Given the description of an element on the screen output the (x, y) to click on. 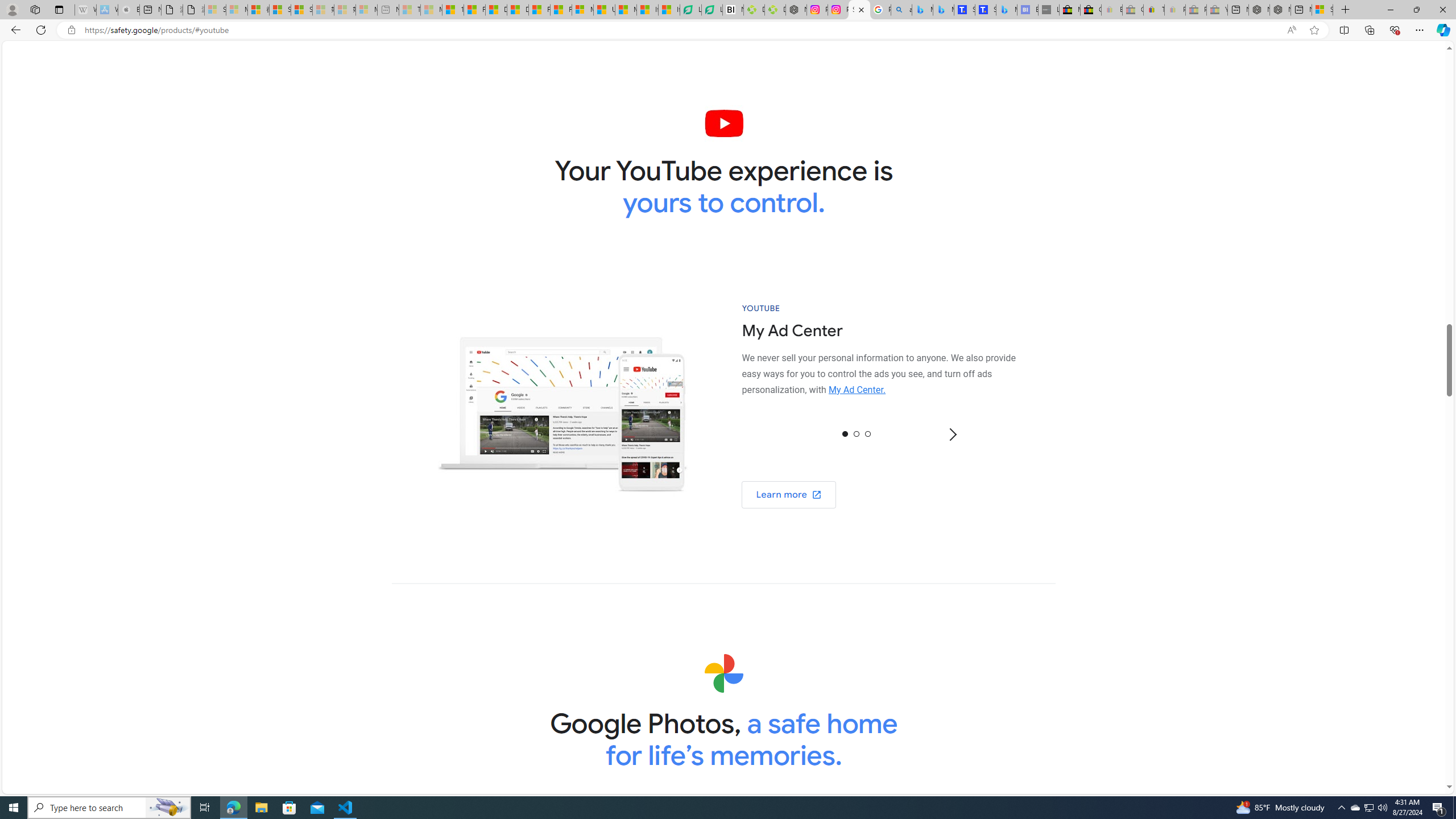
Descarga Driver Updater (775, 9)
Payments Terms of Use | eBay.com - Sleeping (1174, 9)
Threats and offensive language policy | eBay (1153, 9)
Nvidia va a poner a prueba la paciencia de los inversores (732, 9)
Food and Drink - MSN (474, 9)
US Heat Deaths Soared To Record High Last Year (604, 9)
Drinking tea every day is proven to delay biological aging (517, 9)
